Given the description of an element on the screen output the (x, y) to click on. 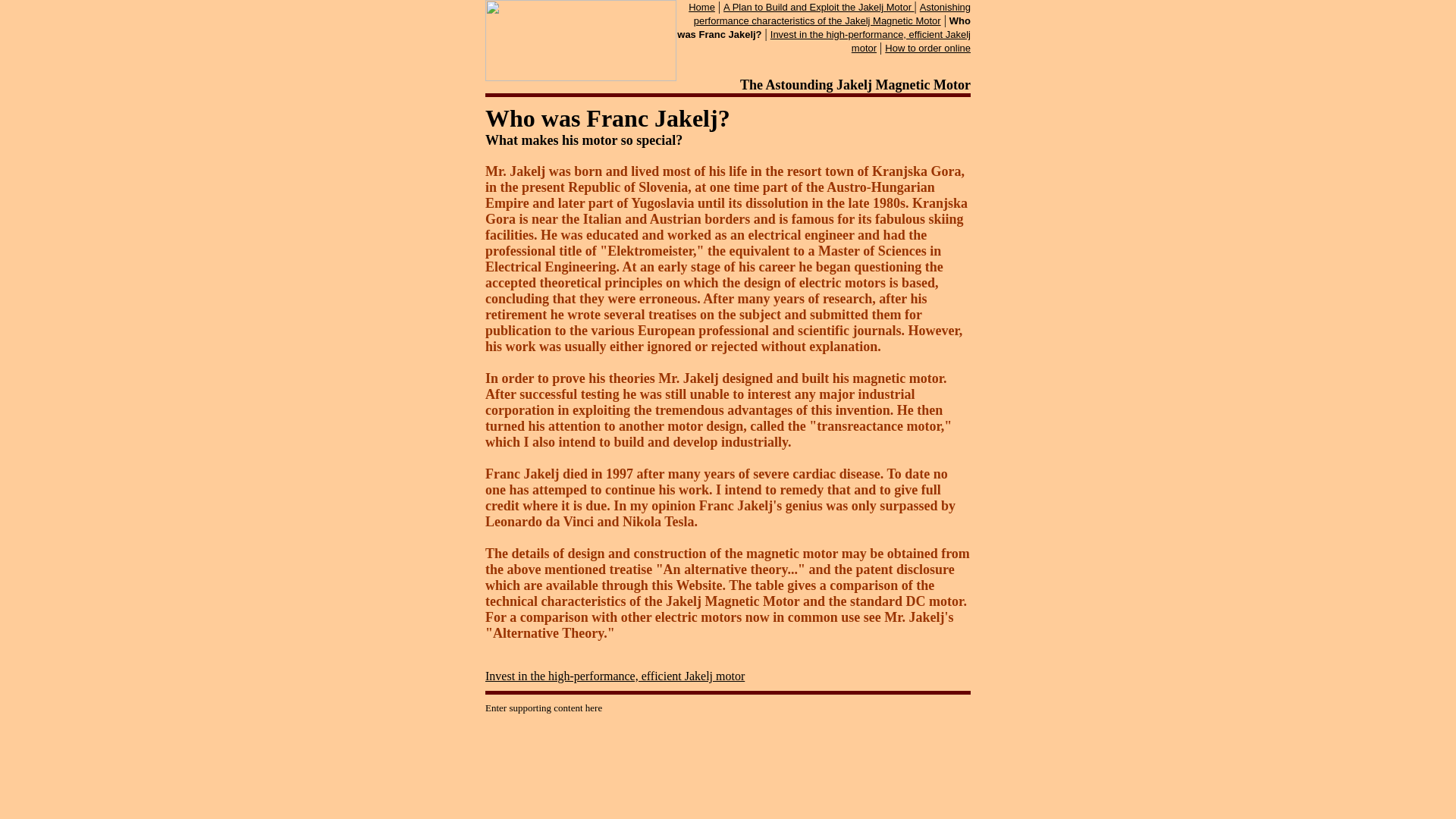
Who was Franc Jakelj? (824, 27)
Invest in the high-performance, efficient Jakelj motor (614, 675)
Invest in the high-performance, efficient Jakelj motor (870, 41)
Home (701, 7)
A Plan to Build and Exploit the Jakelj Motor (818, 7)
How to order online (928, 48)
